Given the description of an element on the screen output the (x, y) to click on. 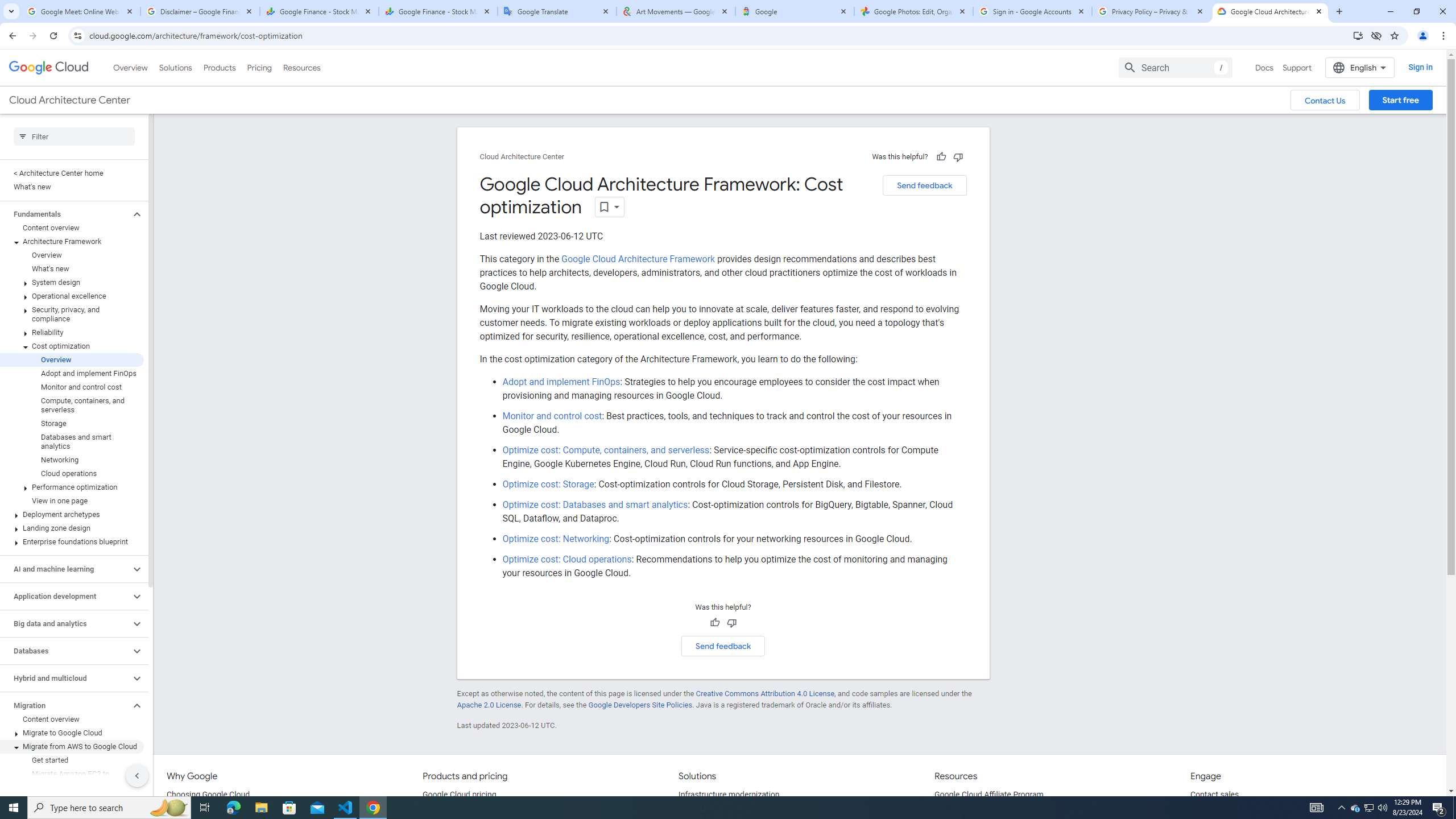
Fundamentals (64, 214)
Solutions (175, 67)
Cloud Architecture Center (521, 156)
Optimize cost: Cloud operations (566, 559)
Hide side navigation (136, 775)
Google Cloud (48, 67)
Reliability (72, 332)
Google Cloud pricing (459, 795)
Monitor and control cost (552, 415)
Type to filter (74, 136)
